Given the description of an element on the screen output the (x, y) to click on. 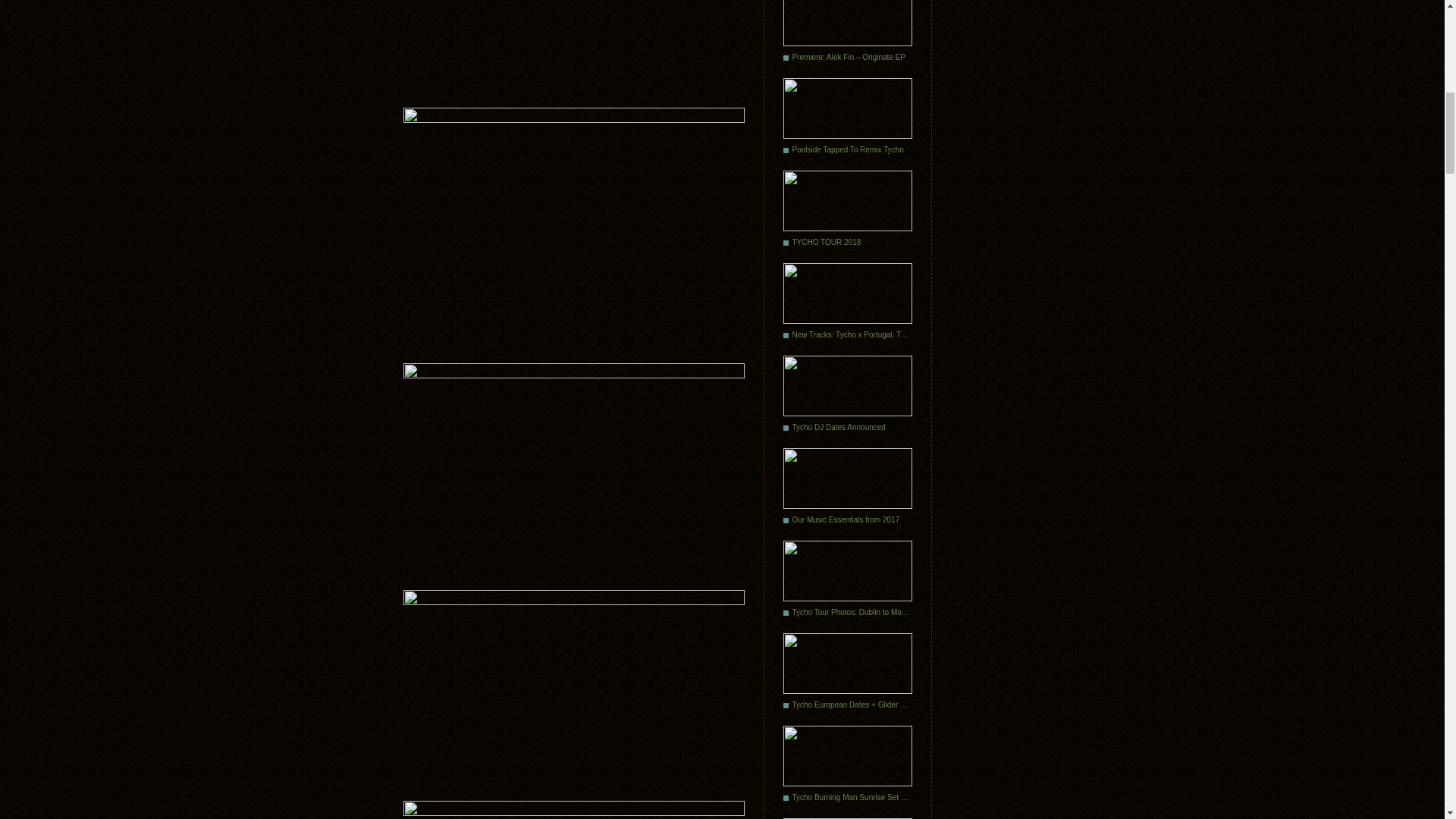
635csi (573, 687)
m1-bmw-marlboro (573, 809)
01bre1985lauda (573, 46)
1984NissanMethaR1 (573, 227)
